Given the description of an element on the screen output the (x, y) to click on. 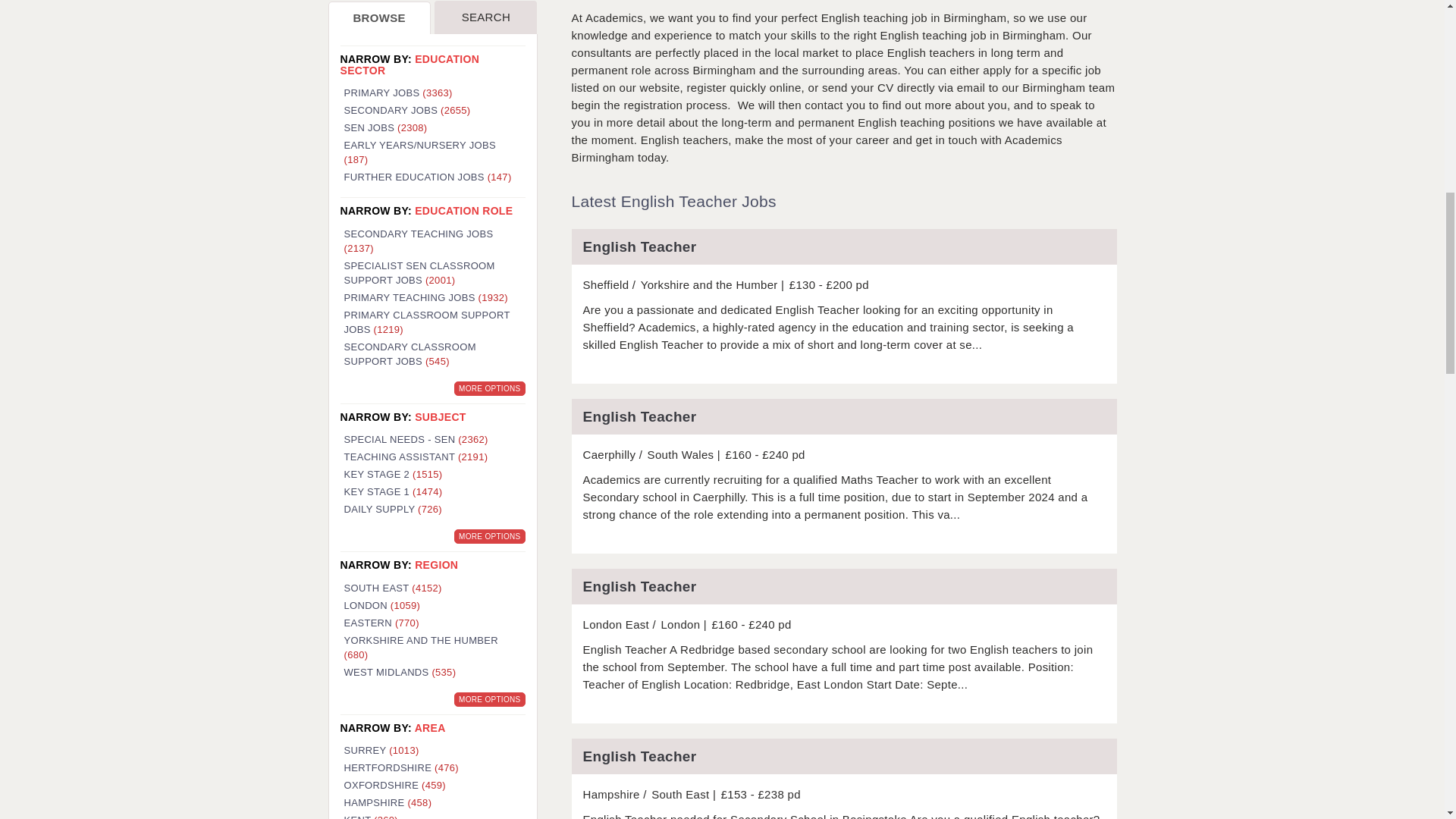
English Teacher (844, 416)
English Teacher (844, 755)
English Teacher (844, 586)
English Teacher (844, 246)
